Given the description of an element on the screen output the (x, y) to click on. 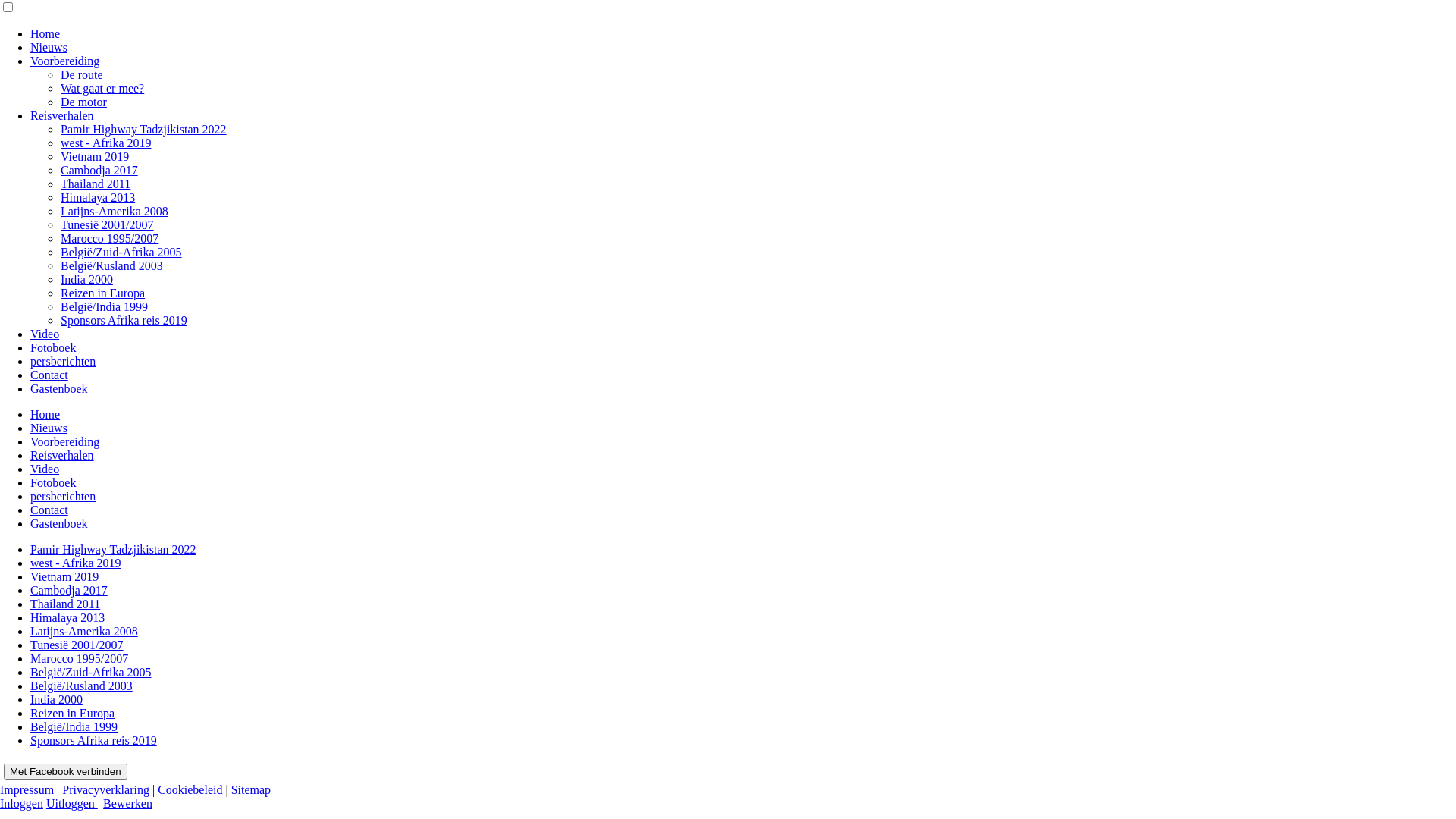
De motor Element type: text (83, 101)
Latijns-Amerika 2008 Element type: text (114, 210)
Video Element type: text (44, 468)
Marocco 1995/2007 Element type: text (79, 658)
Inloggen Element type: text (21, 803)
Thailand 2011 Element type: text (95, 183)
Marocco 1995/2007 Element type: text (109, 238)
Sponsors Afrika reis 2019 Element type: text (123, 319)
India 2000 Element type: text (56, 699)
Privacyverklaring Element type: text (105, 789)
Reisverhalen Element type: text (62, 454)
Pamir Highway Tadzjikistan 2022 Element type: text (143, 128)
Cambodja 2017 Element type: text (99, 169)
west - Afrika 2019 Element type: text (75, 562)
Bewerken Element type: text (127, 803)
Fotoboek Element type: text (52, 347)
Reisverhalen Element type: text (62, 115)
Voorbereiding Element type: text (64, 441)
Video Element type: text (44, 333)
De route Element type: text (81, 74)
Nieuws Element type: text (48, 46)
Cambodja 2017 Element type: text (68, 589)
Reizen in Europa Element type: text (102, 292)
Latijns-Amerika 2008 Element type: text (84, 630)
Thailand 2011 Element type: text (65, 603)
Fotoboek Element type: text (52, 482)
Impressum Element type: text (26, 789)
Vietnam 2019 Element type: text (94, 156)
Home Element type: text (44, 33)
Sitemap Element type: text (250, 789)
Met Facebook verbinden Element type: text (65, 771)
Reizen in Europa Element type: text (72, 712)
India 2000 Element type: text (86, 279)
Himalaya 2013 Element type: text (97, 197)
Gastenboek Element type: text (58, 388)
Vietnam 2019 Element type: text (64, 576)
Contact Element type: text (49, 374)
Gastenboek Element type: text (58, 523)
persberichten Element type: text (62, 360)
Nieuws Element type: text (48, 427)
Home Element type: text (44, 413)
Cookiebeleid Element type: text (189, 789)
Voorbereiding Element type: text (64, 60)
Pamir Highway Tadzjikistan 2022 Element type: text (113, 548)
persberichten Element type: text (62, 495)
west - Afrika 2019 Element type: text (105, 142)
Contact Element type: text (49, 509)
Uitloggen Element type: text (71, 803)
Wat gaat er mee? Element type: text (102, 87)
Himalaya 2013 Element type: text (67, 617)
Sponsors Afrika reis 2019 Element type: text (93, 740)
